Given the description of an element on the screen output the (x, y) to click on. 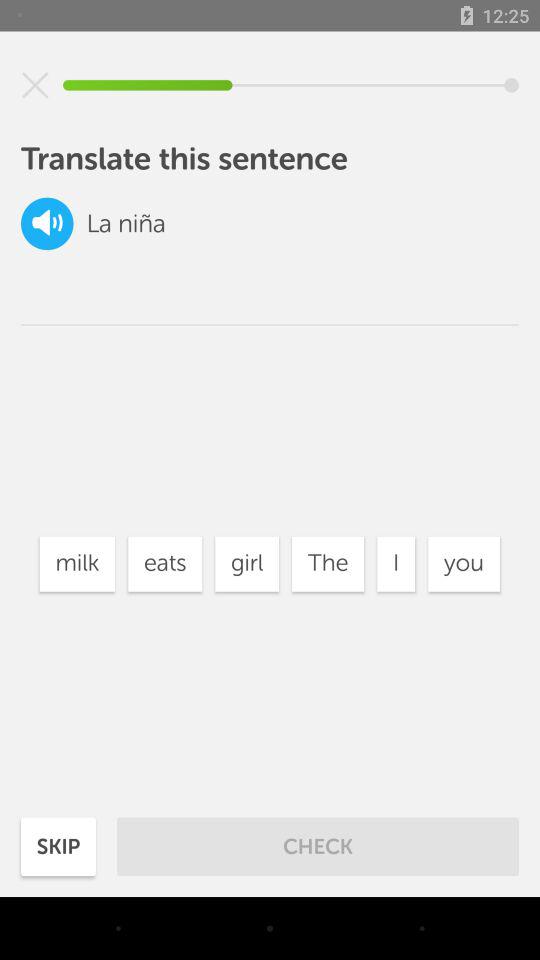
swipe to the skip item (58, 846)
